Given the description of an element on the screen output the (x, y) to click on. 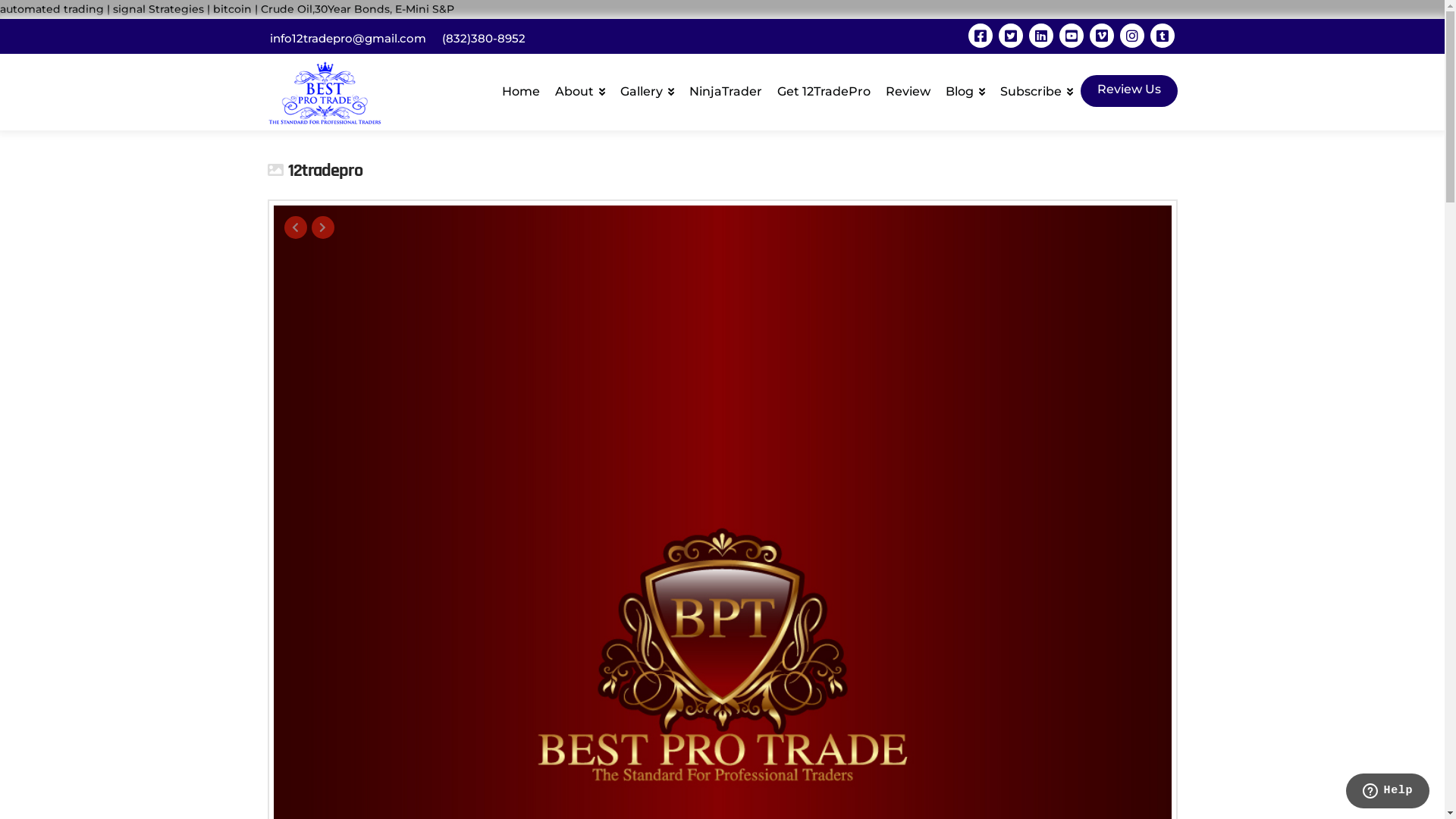
(832)380-8952 Element type: text (482, 38)
Review Element type: text (908, 87)
Subscribe Element type: text (1035, 87)
Get 12TradePro Element type: text (822, 87)
LinkedIn Element type: hover (1040, 35)
Blog Element type: text (964, 87)
Facebook Element type: hover (979, 35)
Vimeo Element type: hover (1100, 35)
Tumblr Element type: hover (1161, 35)
Review Us Element type: text (1127, 90)
NinjaTrader Element type: text (724, 87)
Home Element type: text (520, 87)
info12tradepro@gmail.com Element type: text (347, 38)
Instagram Element type: hover (1131, 35)
About Element type: text (579, 87)
Twitter Element type: hover (1009, 35)
Opens a widget where you can chat to one of our agents Element type: hover (1387, 792)
YouTube Element type: hover (1070, 35)
Gallery Element type: text (646, 87)
